Given the description of an element on the screen output the (x, y) to click on. 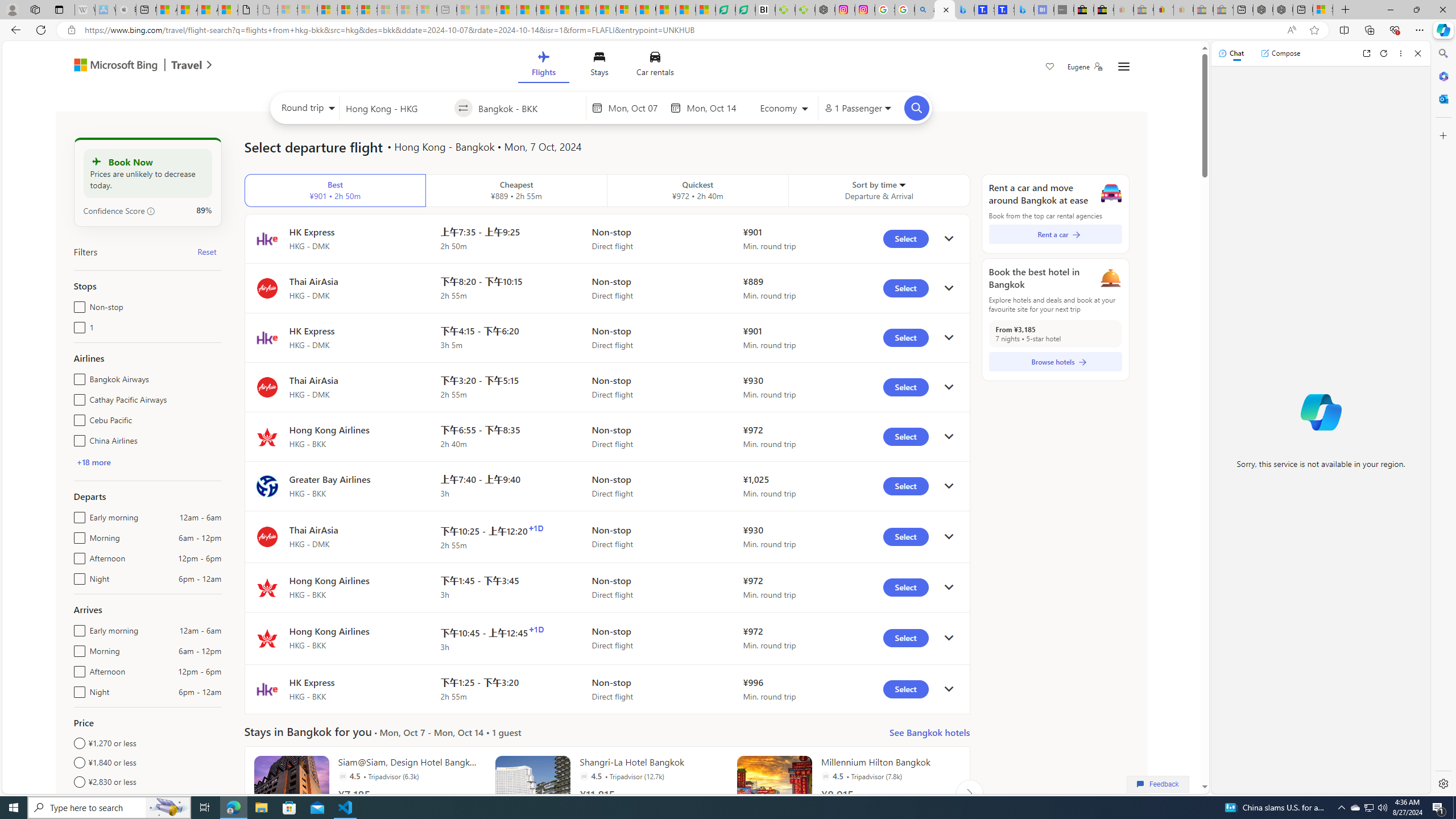
Nordace - Nordace Edin Collection (825, 9)
Early morning12am - 6am (76, 628)
Top Stories - MSN - Sleeping (466, 9)
Nvidia va a poner a prueba la paciencia de los inversores (765, 9)
Press Room - eBay Inc. - Sleeping (1203, 9)
Yard, Garden & Outdoor Living - Sleeping (1222, 9)
Cebu Pacific (76, 417)
Open link in new tab (1366, 53)
Buy iPad - Apple - Sleeping (125, 9)
Nordace - Summer Adventures 2024 (1282, 9)
